Given the description of an element on the screen output the (x, y) to click on. 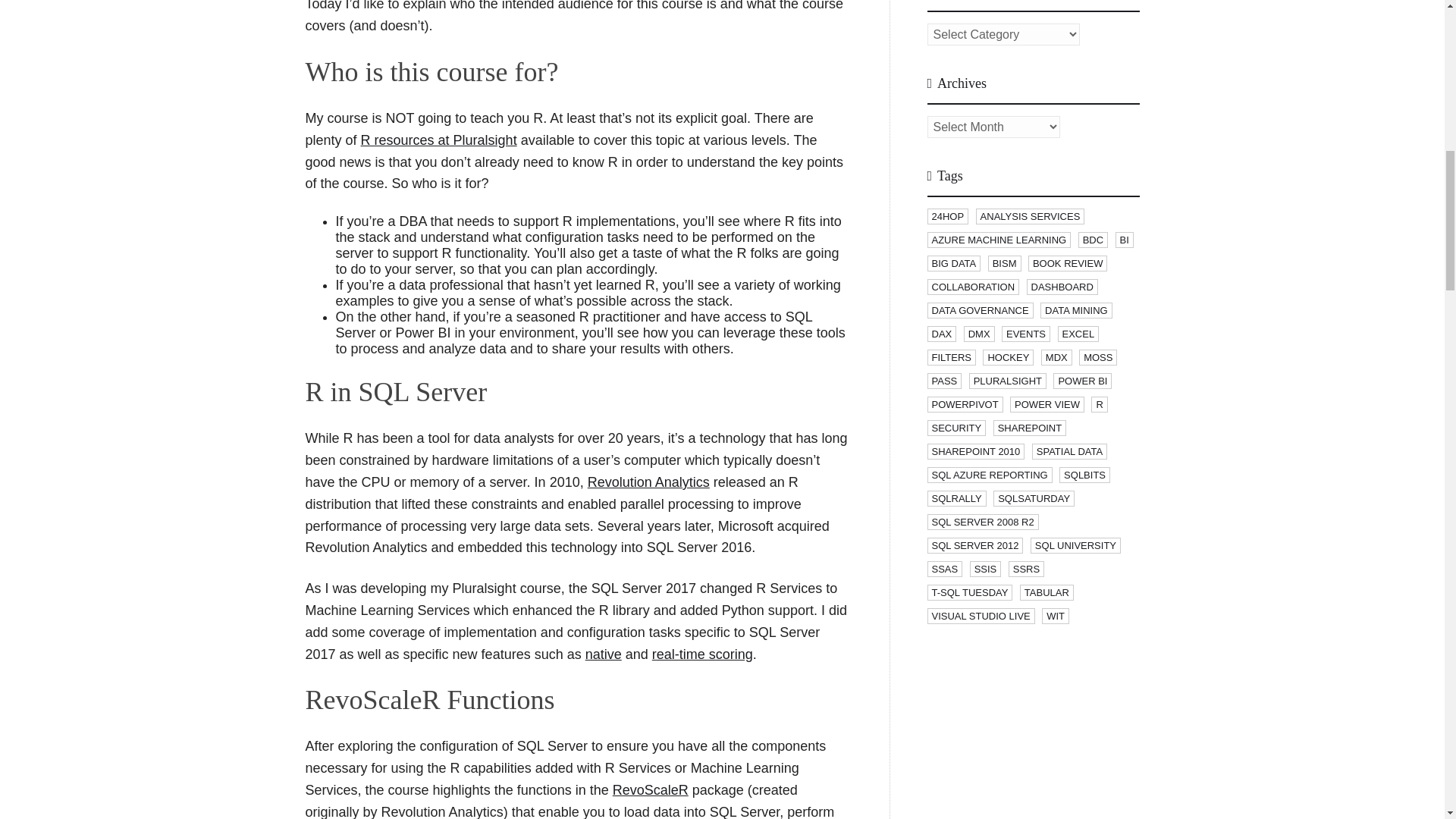
real-time scoring (702, 653)
native (603, 653)
RevoScaleR (650, 789)
Revolution Analytics (649, 482)
R resources at Pluralsight (438, 140)
